Given the description of an element on the screen output the (x, y) to click on. 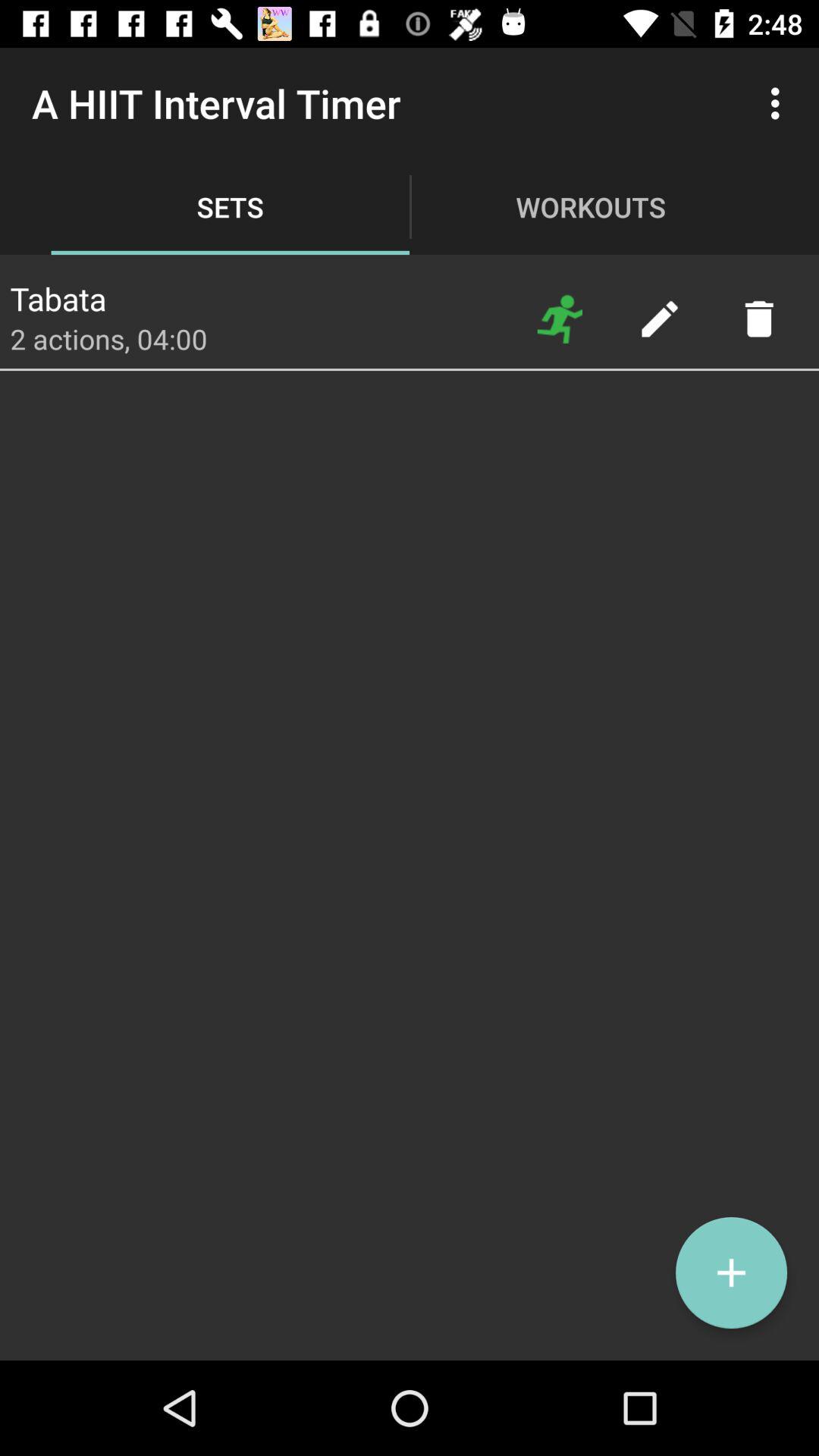
swipe until the 2 actions 04 icon (108, 338)
